Given the description of an element on the screen output the (x, y) to click on. 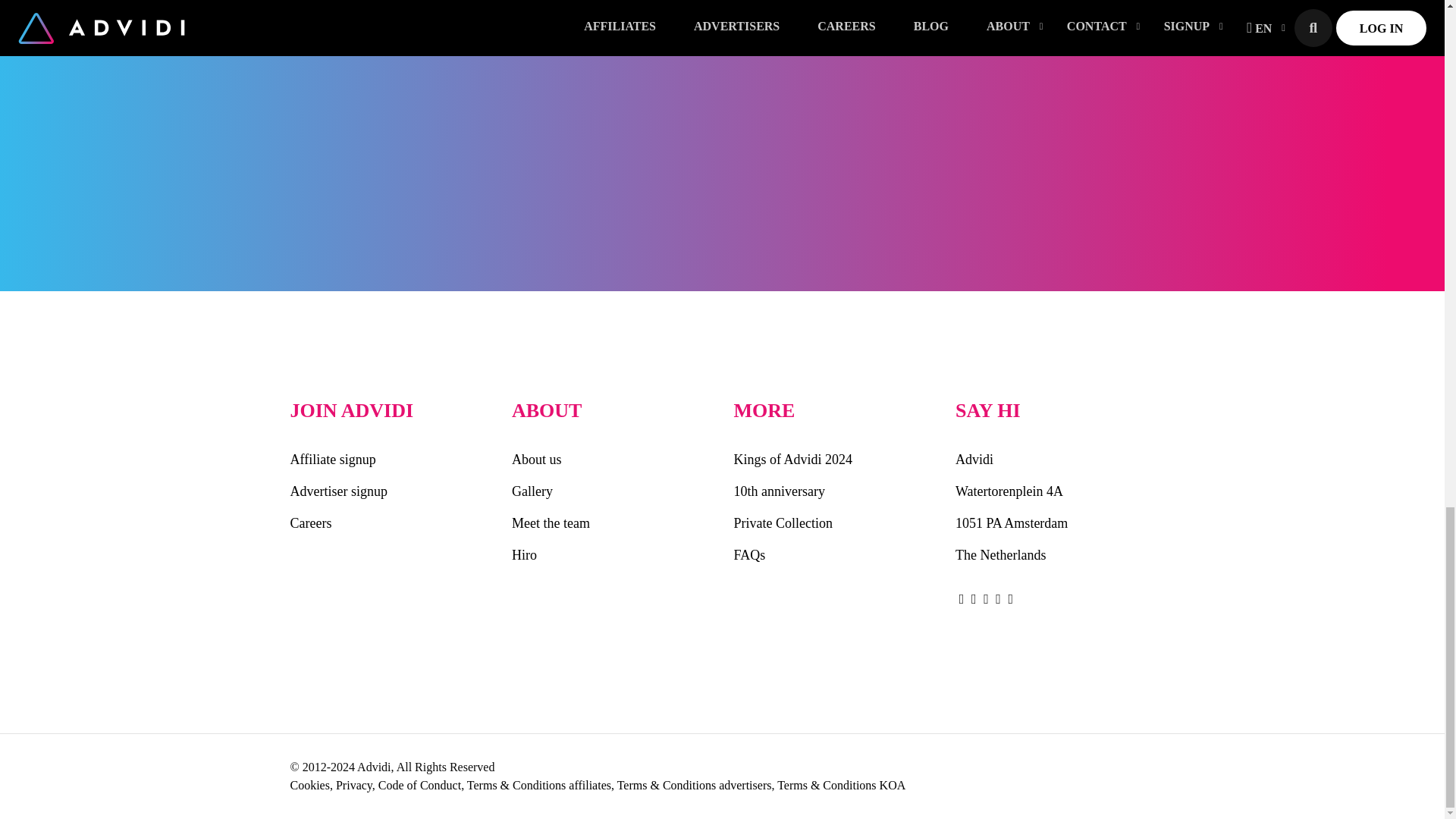
Private Collection (833, 522)
Affiliate signup (389, 459)
Gallery (611, 490)
Hiro (611, 554)
Meet the team (611, 522)
Kings of Advidi 2024 (833, 459)
About us (611, 459)
10th anniversary (833, 490)
Careers (389, 522)
Advertiser signup (389, 490)
